Given the description of an element on the screen output the (x, y) to click on. 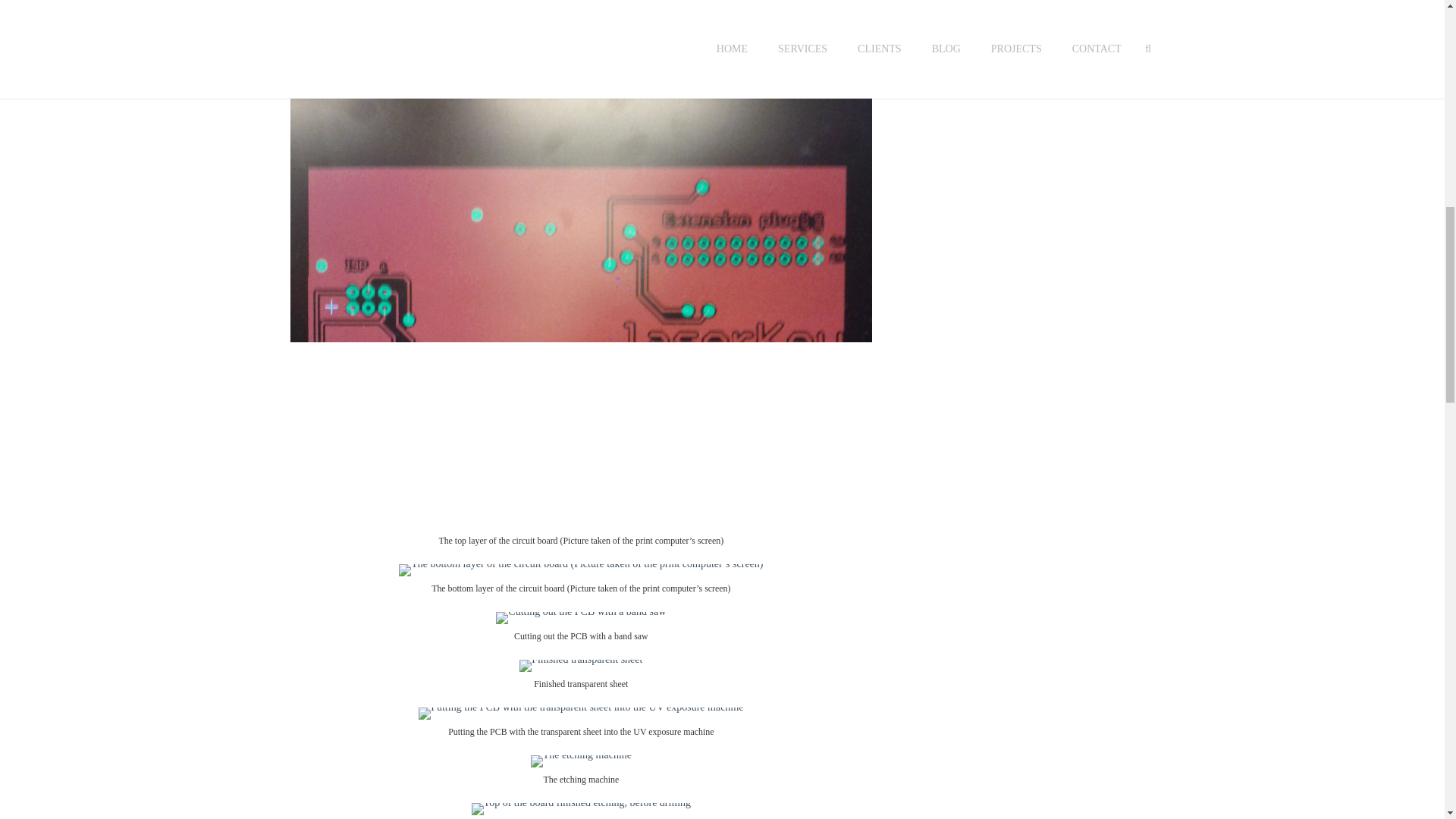
Back to top (1413, 26)
